Given the description of an element on the screen output the (x, y) to click on. 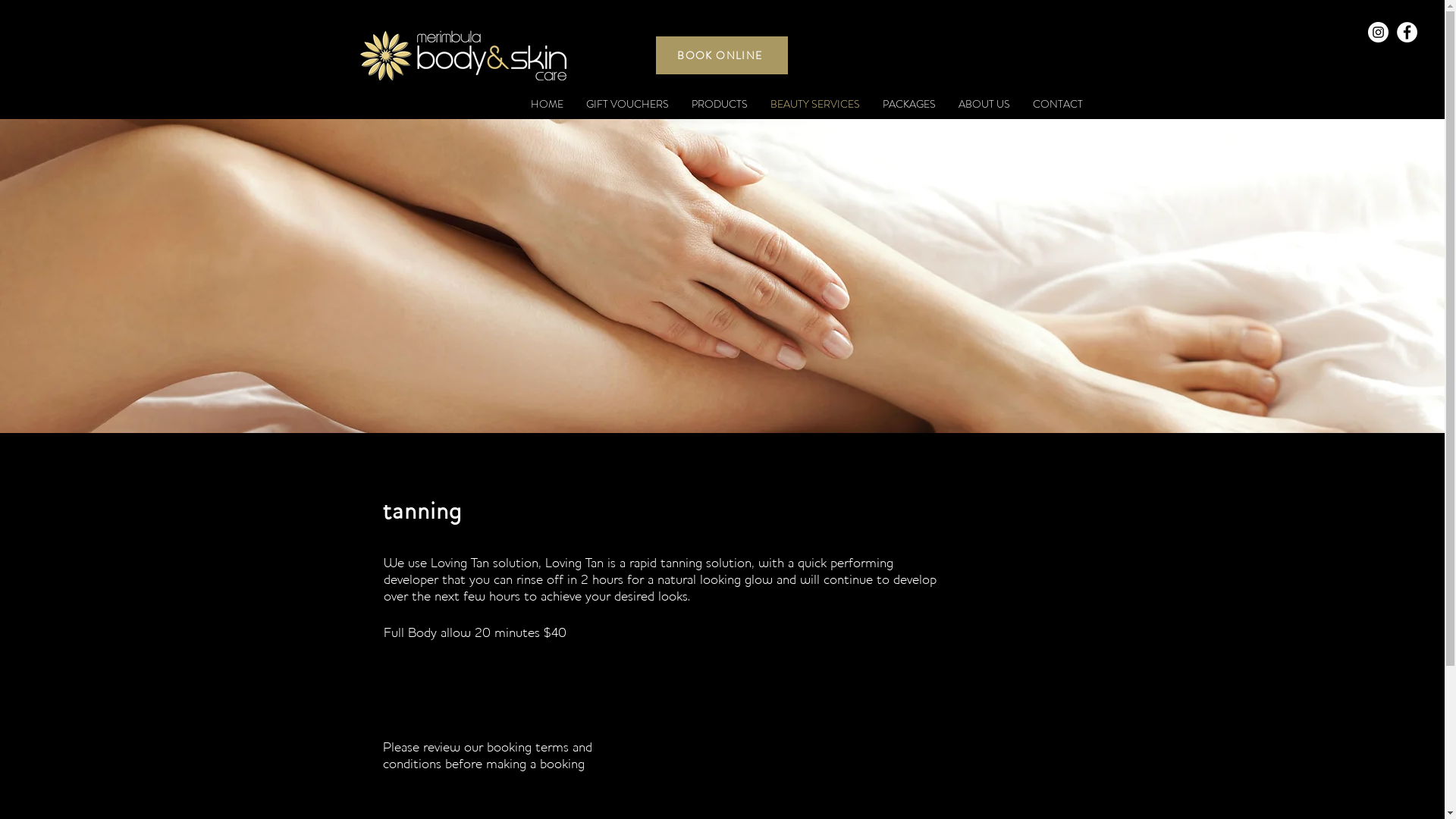
PRODUCTS Element type: text (718, 104)
CONTACT Element type: text (1056, 104)
HOME Element type: text (546, 104)
BOOK ONLINE Element type: text (721, 55)
PACKAGES Element type: text (908, 104)
BEAUTY SERVICES Element type: text (814, 104)
GIFT VOUCHERS Element type: text (627, 104)
ABOUT US Element type: text (983, 104)
